Given the description of an element on the screen output the (x, y) to click on. 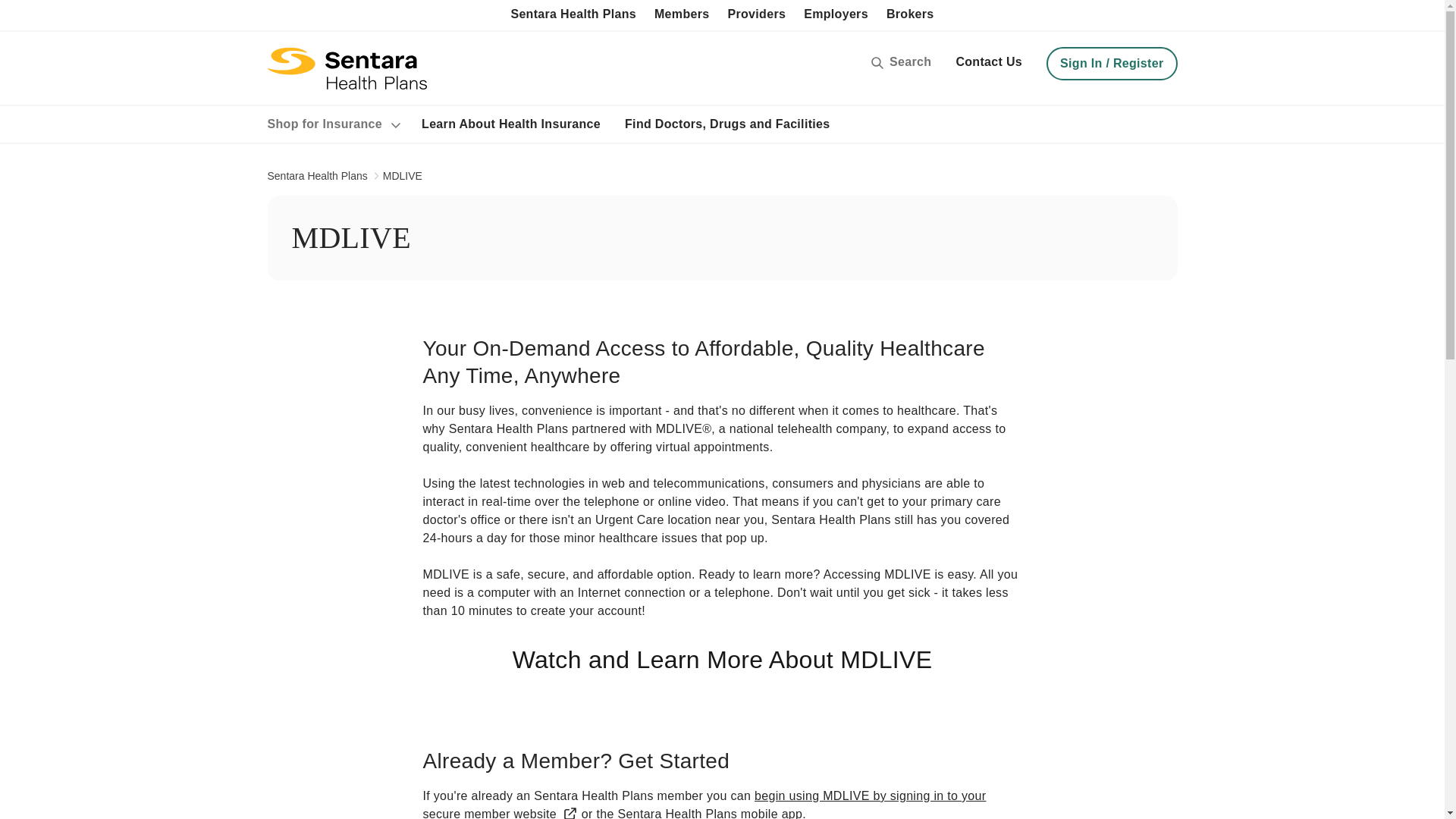
Shop for Insurance (334, 124)
Sentara Health Plans (572, 15)
Members (681, 15)
Brokers (910, 15)
Find Doctors, Drugs and Facilities (726, 124)
Learn About Health Insurance (510, 124)
Providers (756, 15)
MDLIVE (402, 175)
Sentara Health Plans (316, 175)
